Given the description of an element on the screen output the (x, y) to click on. 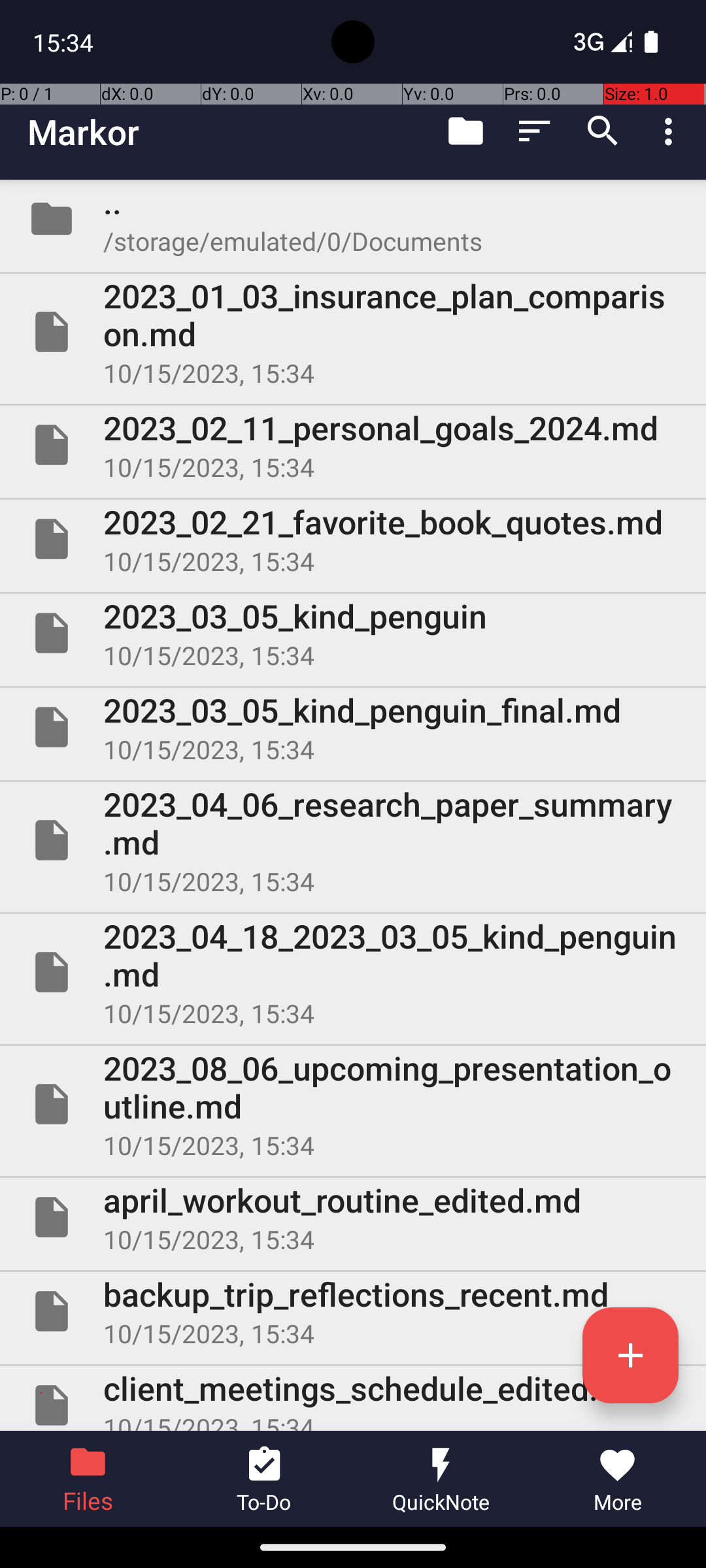
File 2023_01_03_insurance_plan_comparison.md  Element type: android.widget.LinearLayout (353, 331)
File 2023_02_11_personal_goals_2024.md  Element type: android.widget.LinearLayout (353, 444)
File 2023_02_21_favorite_book_quotes.md  Element type: android.widget.LinearLayout (353, 538)
File 2023_03_05_kind_penguin  Element type: android.widget.LinearLayout (353, 632)
File 2023_03_05_kind_penguin_final.md  Element type: android.widget.LinearLayout (353, 726)
File 2023_04_06_research_paper_summary.md  Element type: android.widget.LinearLayout (353, 840)
File 2023_04_18_2023_03_05_kind_penguin.md  Element type: android.widget.LinearLayout (353, 972)
File 2023_08_06_upcoming_presentation_outline.md  Element type: android.widget.LinearLayout (353, 1103)
File april_workout_routine_edited.md  Element type: android.widget.LinearLayout (353, 1216)
File backup_trip_reflections_recent.md  Element type: android.widget.LinearLayout (353, 1311)
File client_meetings_schedule_edited.md  Element type: android.widget.LinearLayout (353, 1398)
